Given the description of an element on the screen output the (x, y) to click on. 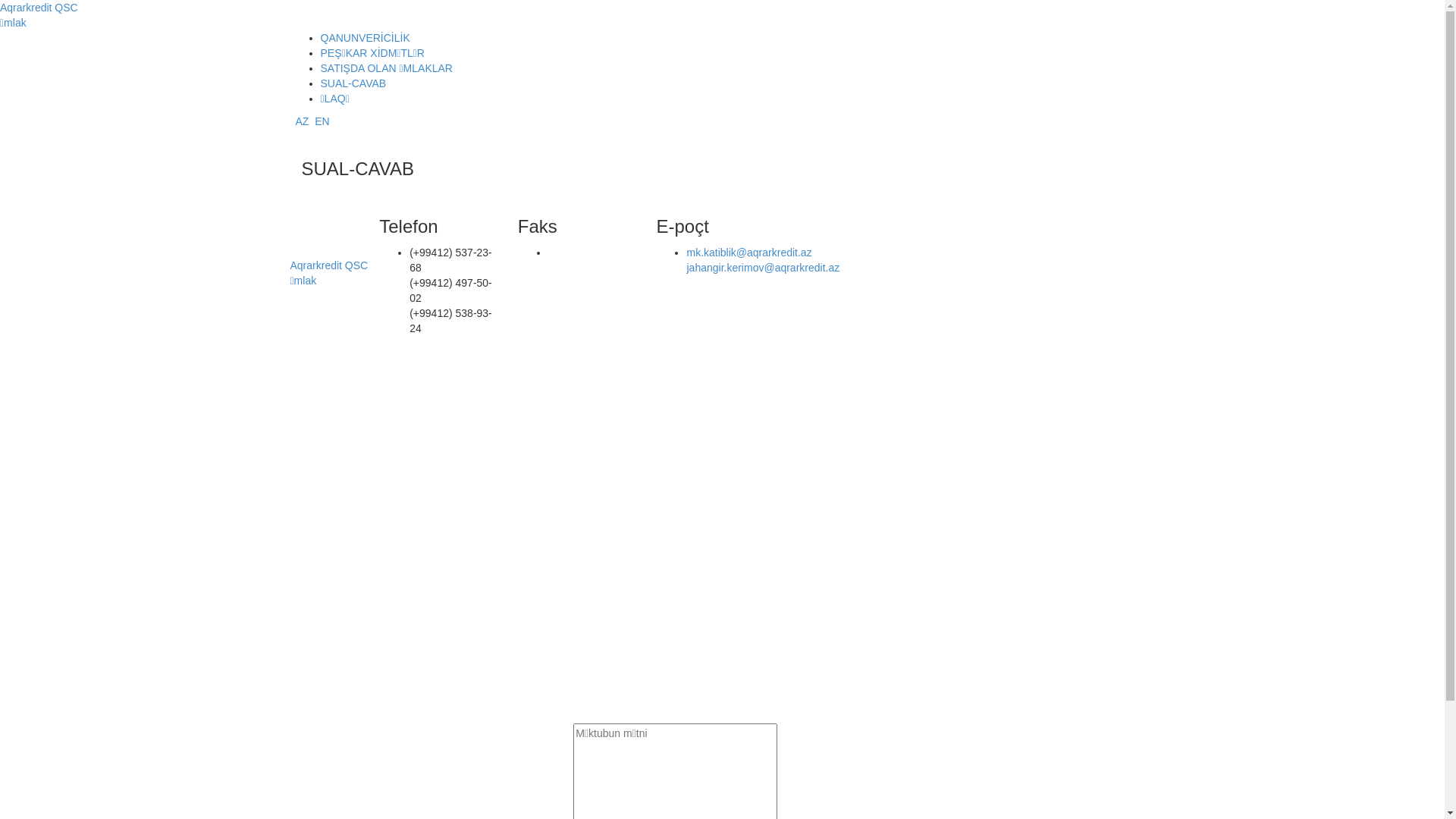
SUAL-CAVAB Element type: text (352, 83)
AZ Element type: text (302, 121)
mk.katiblik@aqrarkredit.az
jahangir.kerimov@aqrarkredit.az Element type: text (762, 259)
EN Element type: text (321, 121)
